Given the description of an element on the screen output the (x, y) to click on. 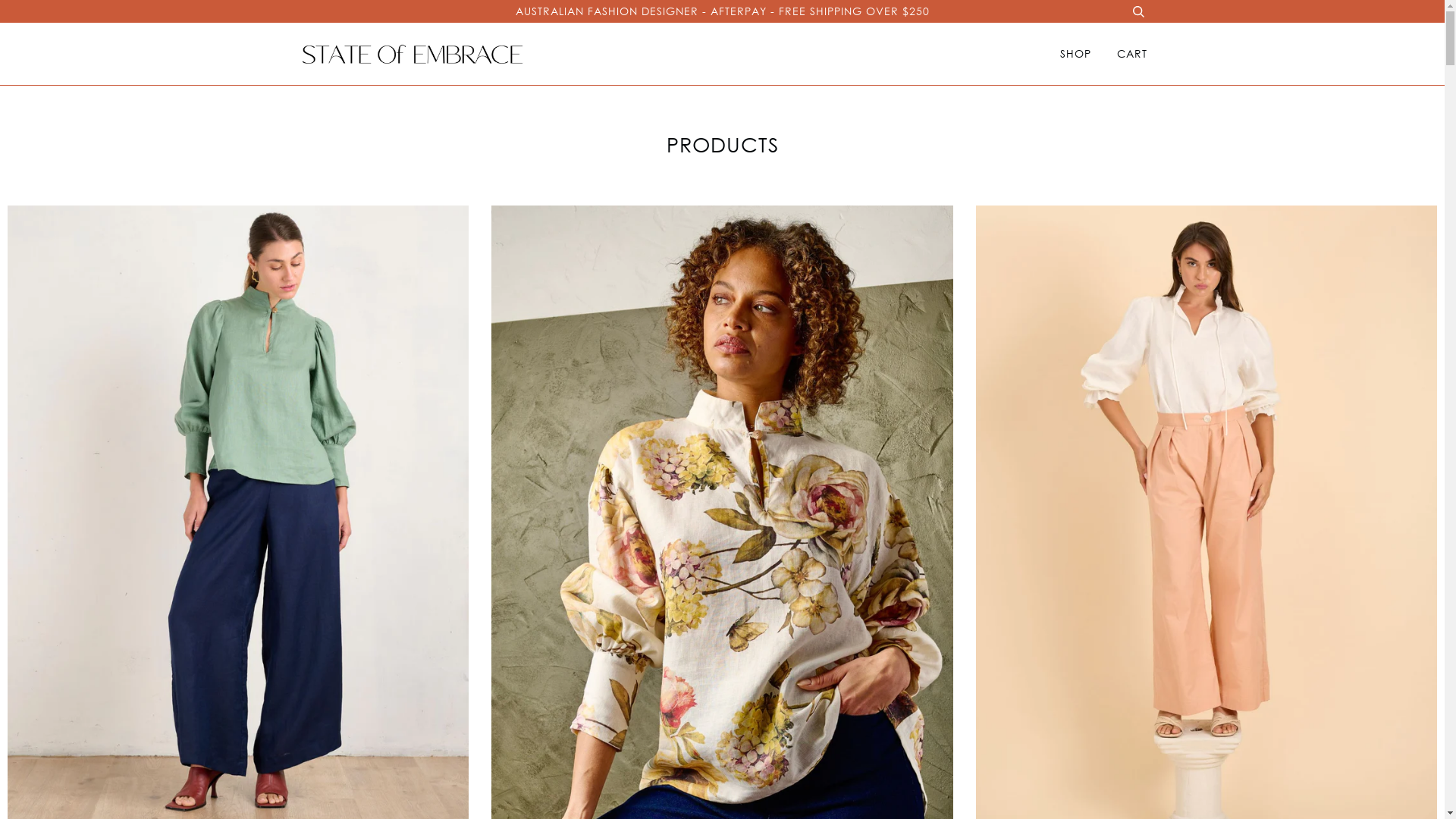
CART Element type: text (1131, 53)
SHOP Element type: text (1075, 53)
